Given the description of an element on the screen output the (x, y) to click on. 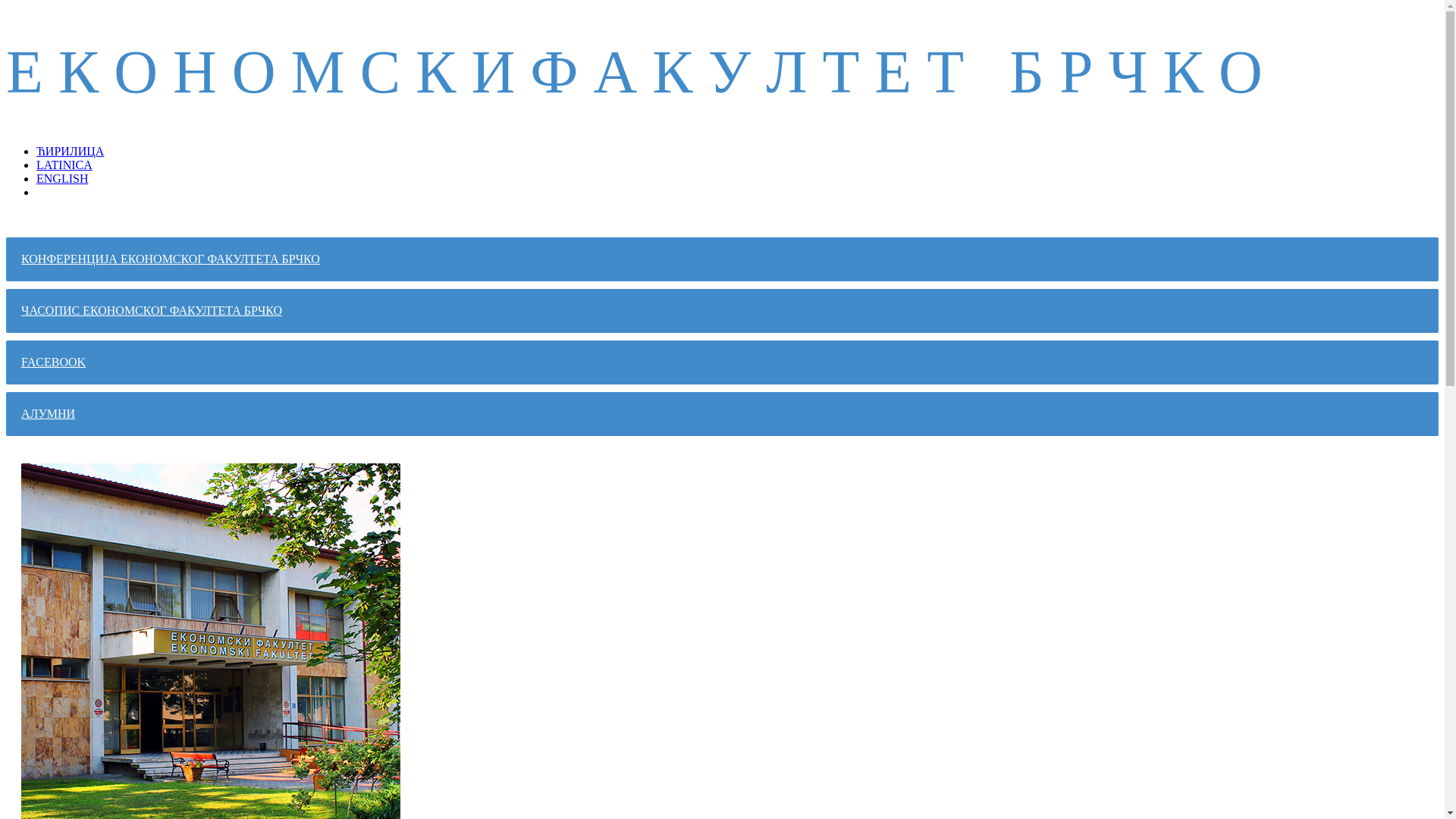
FACEBOOK Element type: text (722, 362)
ENGLISH Element type: text (61, 178)
LATINICA Element type: text (64, 164)
